Given the description of an element on the screen output the (x, y) to click on. 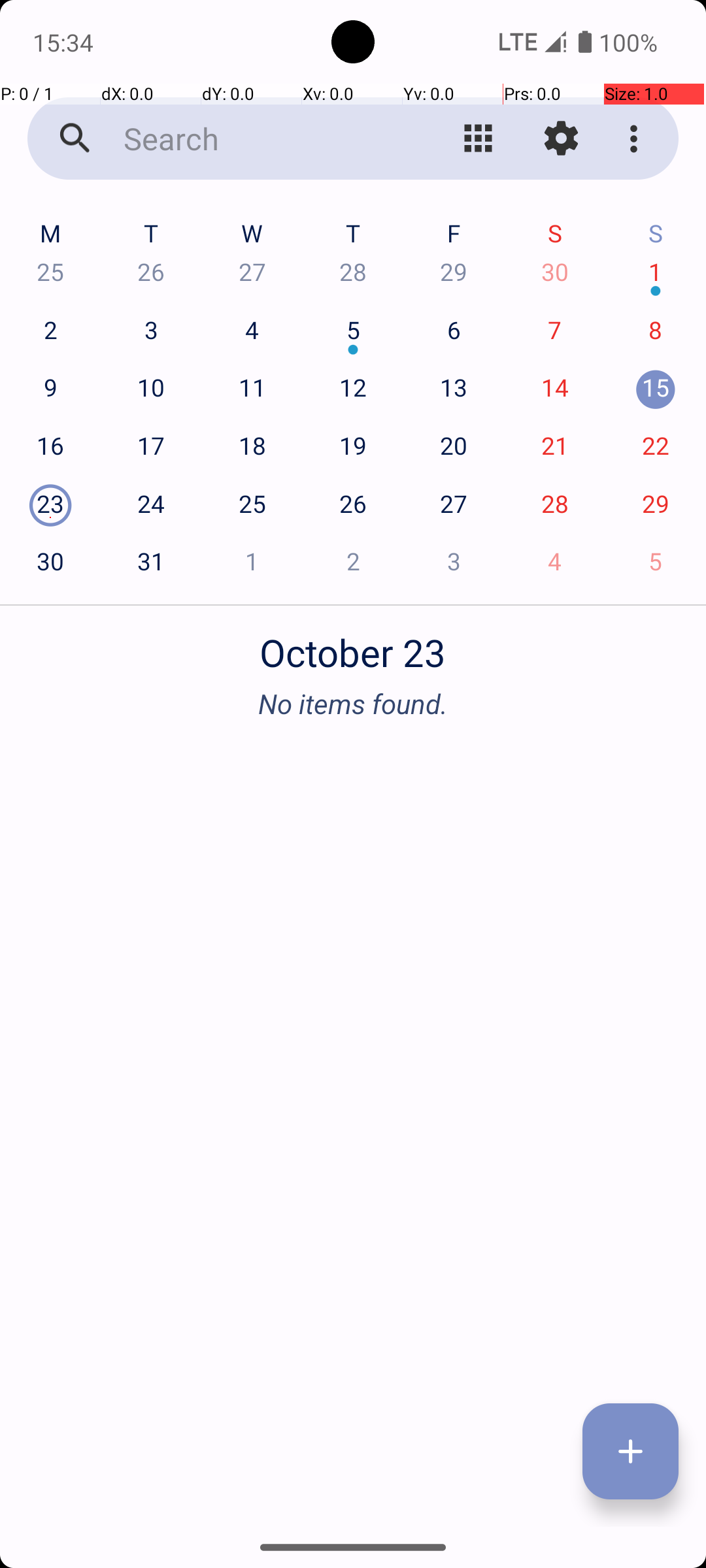
October 23 Element type: android.widget.TextView (352, 644)
